Given the description of an element on the screen output the (x, y) to click on. 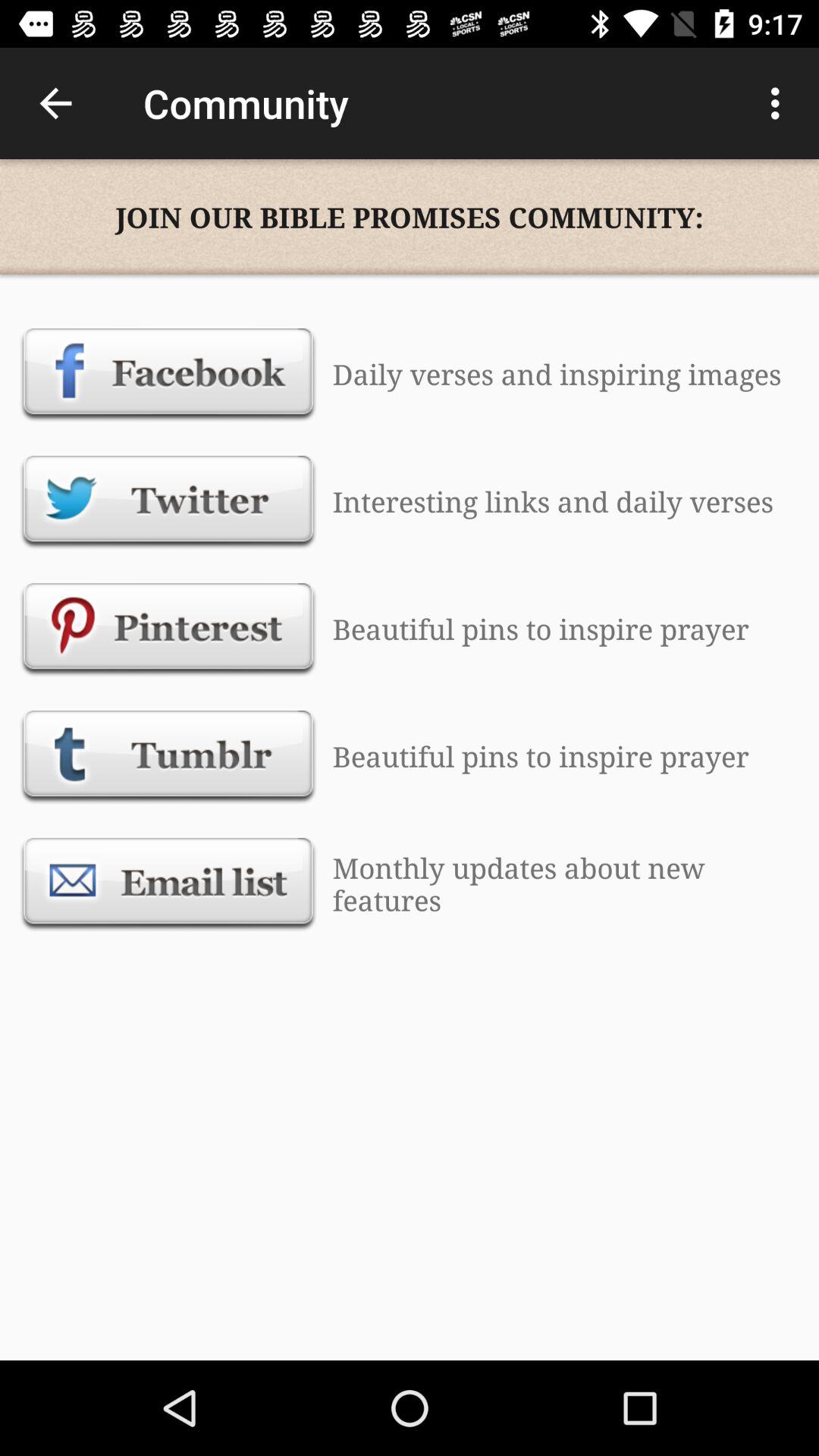
twitter (167, 501)
